Given the description of an element on the screen output the (x, y) to click on. 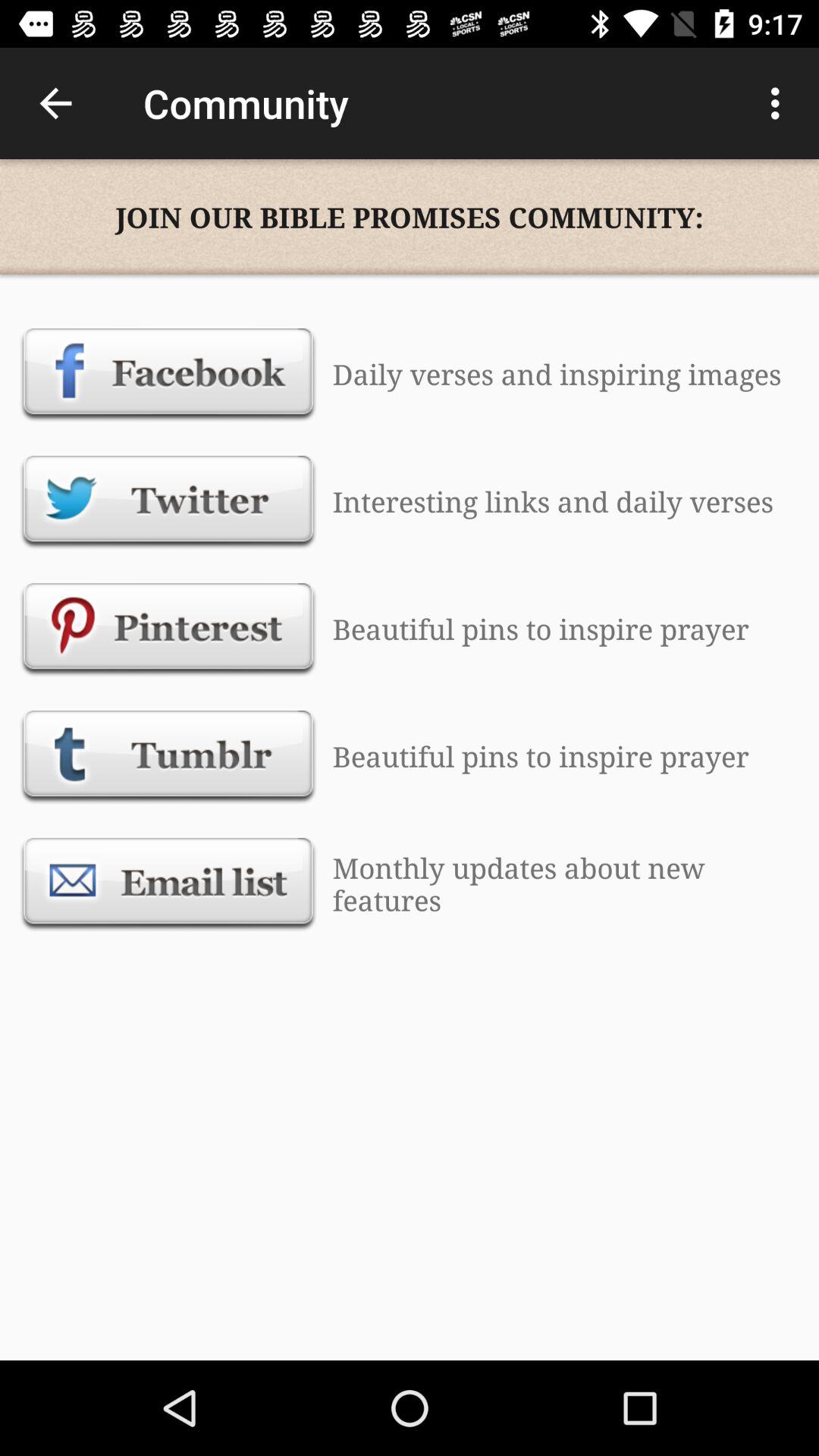
twitter (167, 501)
